Given the description of an element on the screen output the (x, y) to click on. 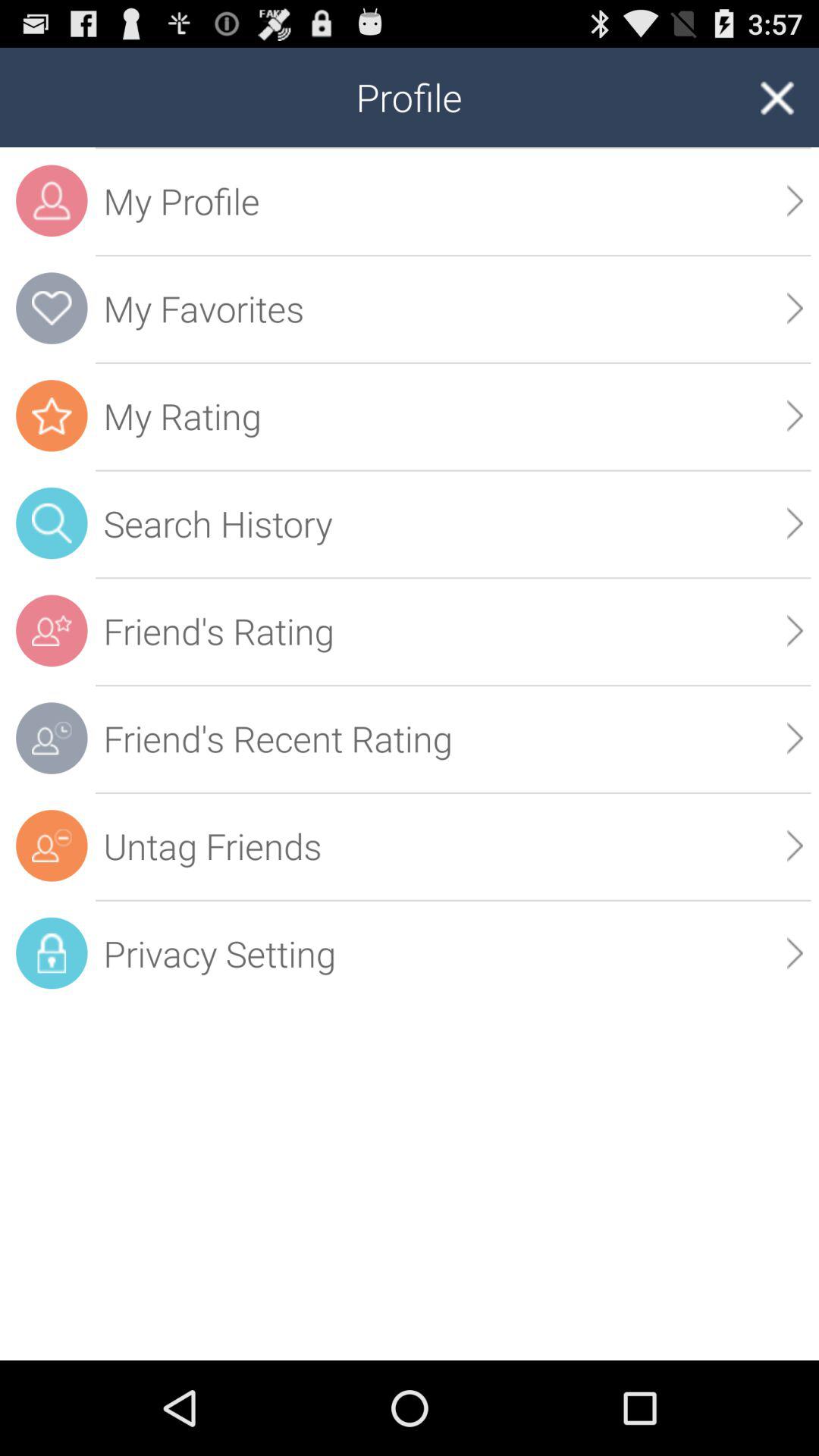
tap the icon above the search history icon (795, 415)
